Given the description of an element on the screen output the (x, y) to click on. 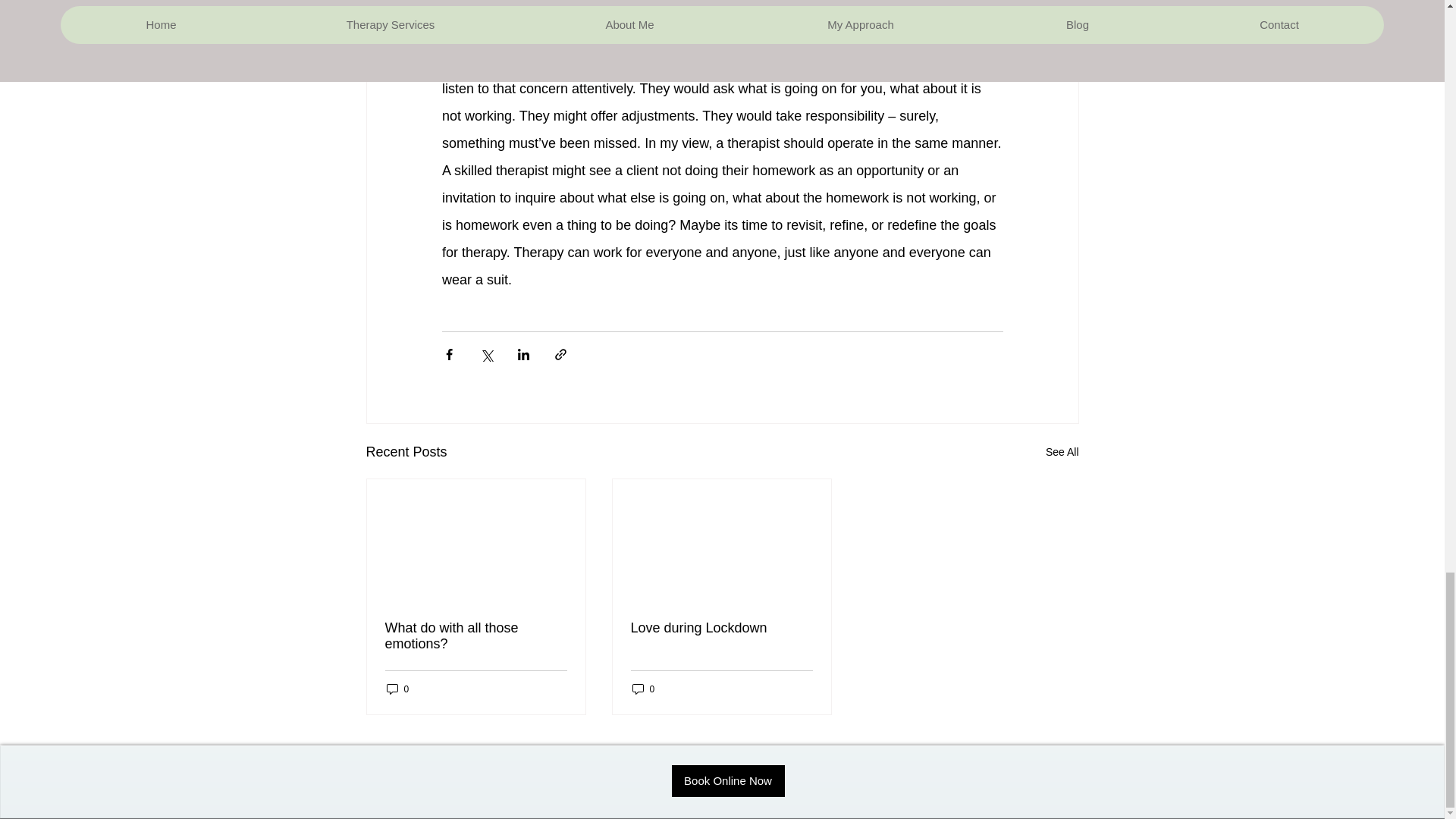
Book Online Now (727, 780)
See All (1061, 452)
Love during Lockdown (721, 627)
What do with all those emotions? (476, 635)
0 (397, 688)
0 (643, 688)
